Given the description of an element on the screen output the (x, y) to click on. 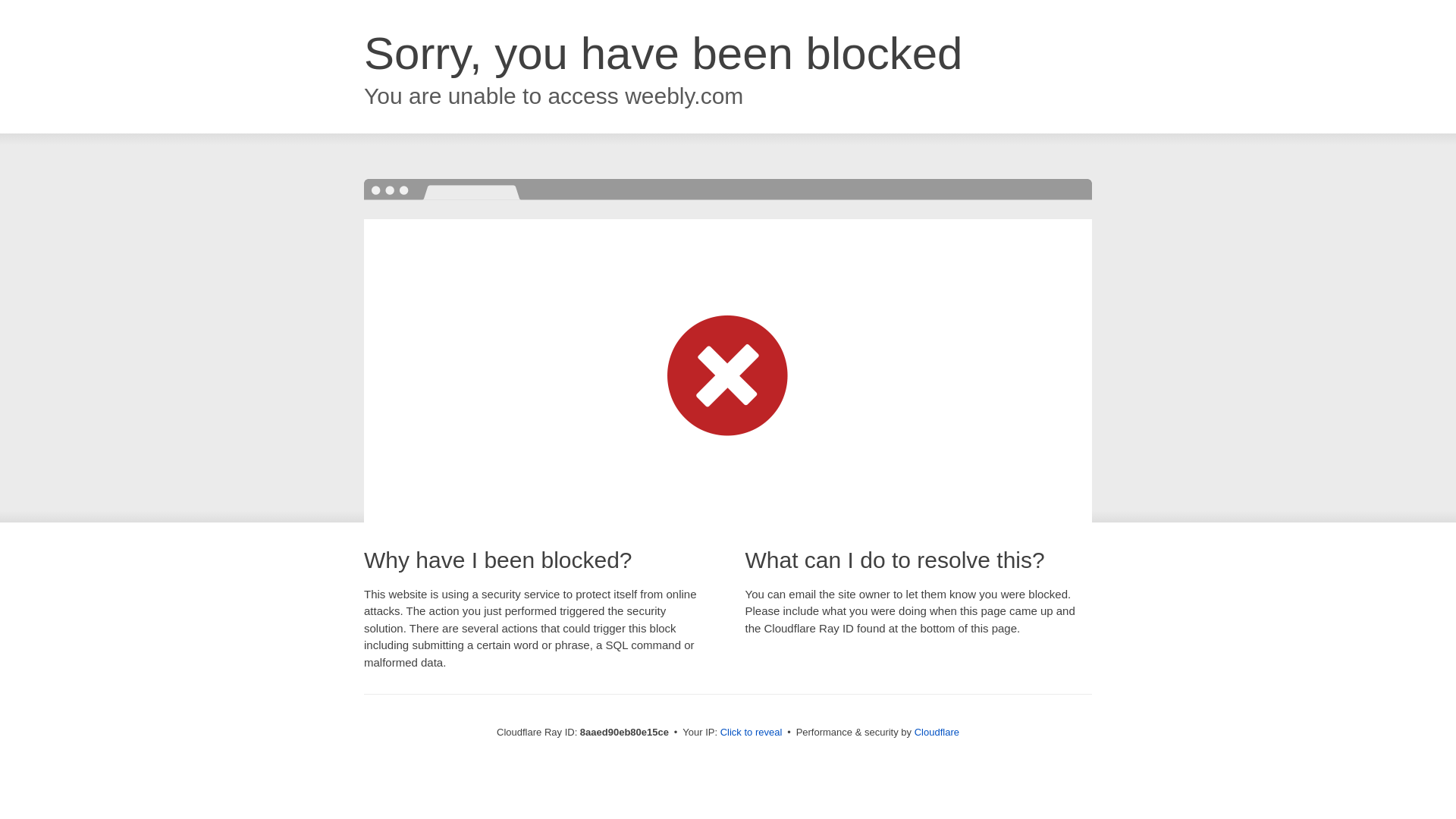
Cloudflare (936, 731)
Click to reveal (751, 732)
